Given the description of an element on the screen output the (x, y) to click on. 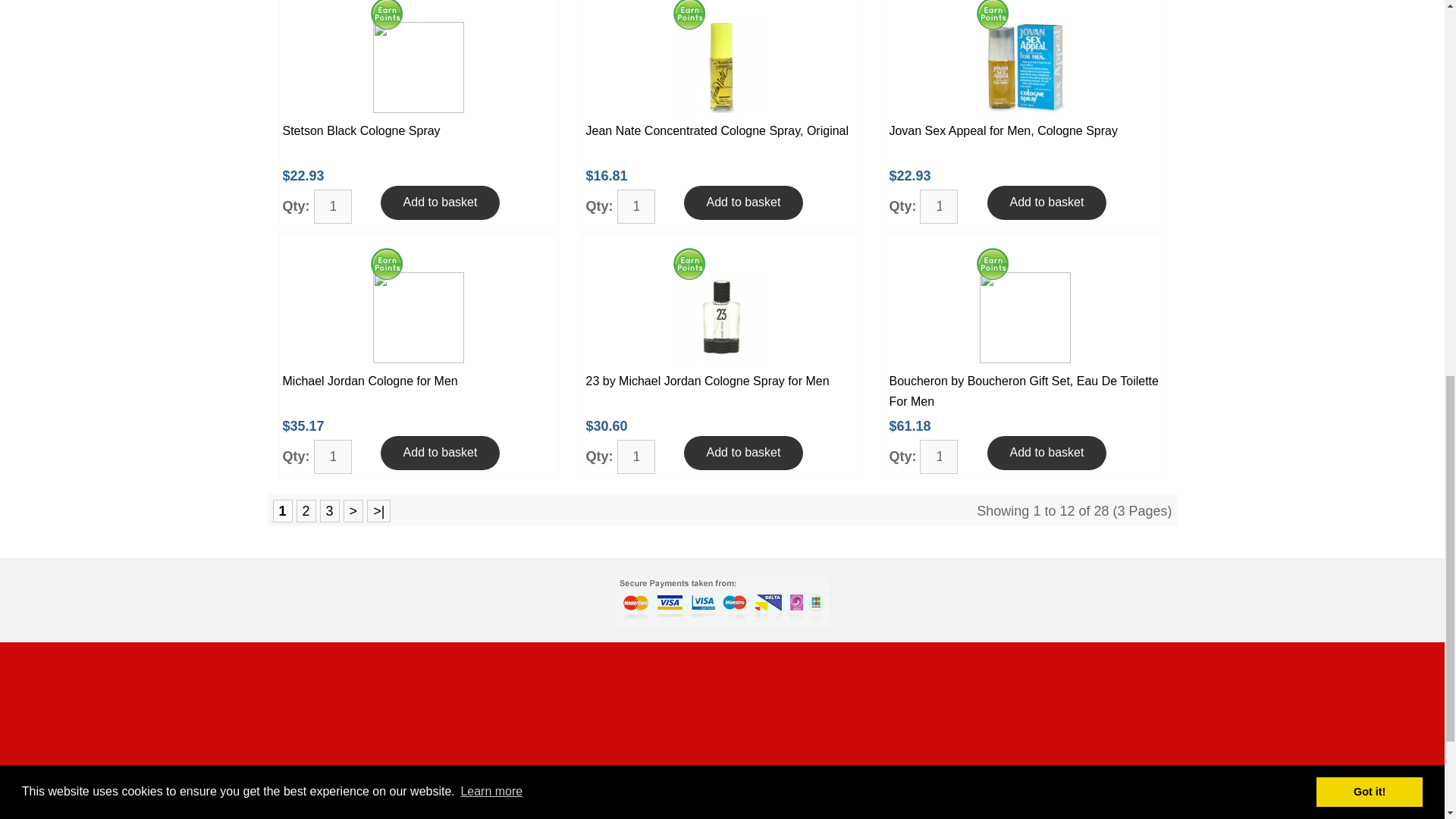
1 (333, 456)
Add to Cart (743, 202)
Add to Cart (1046, 202)
1 (636, 206)
1 (939, 206)
1 (636, 456)
Add to Cart (440, 452)
1 (939, 456)
1 (333, 206)
Add to Cart (440, 202)
